Given the description of an element on the screen output the (x, y) to click on. 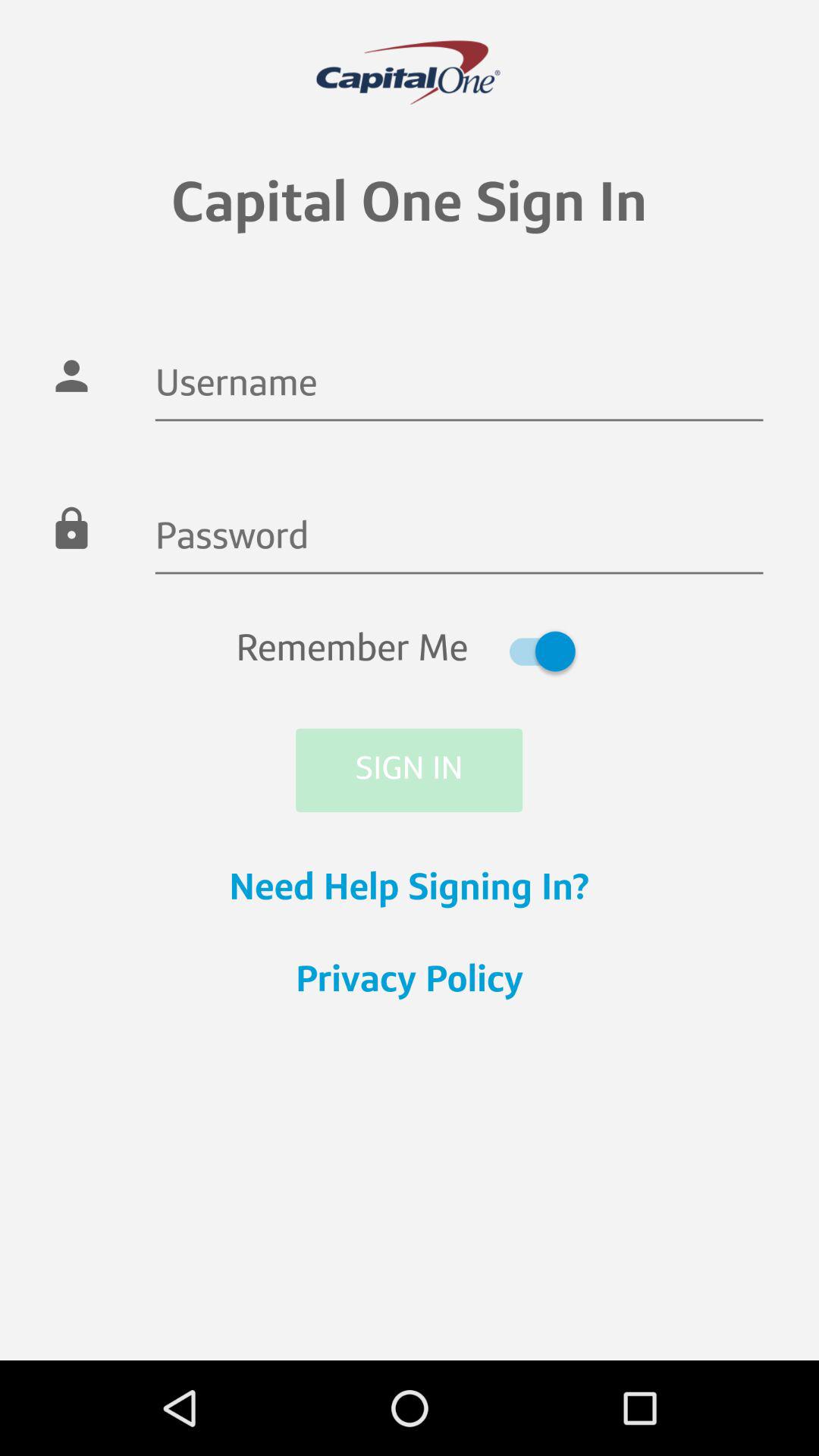
turn off item above the sign in icon (409, 650)
